Given the description of an element on the screen output the (x, y) to click on. 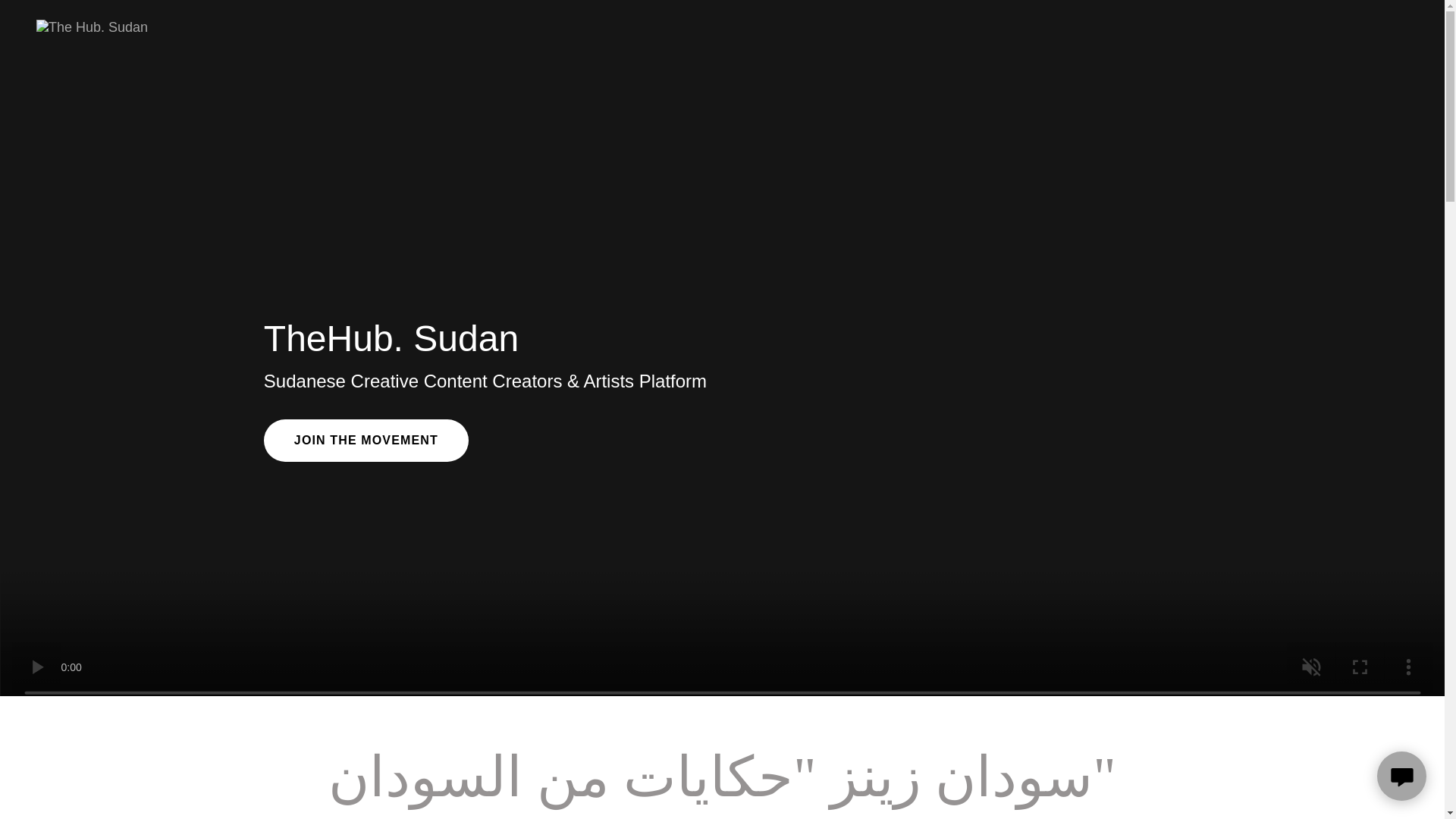
The Hub. Sudan (92, 26)
JOIN THE MOVEMENT (365, 440)
